Given the description of an element on the screen output the (x, y) to click on. 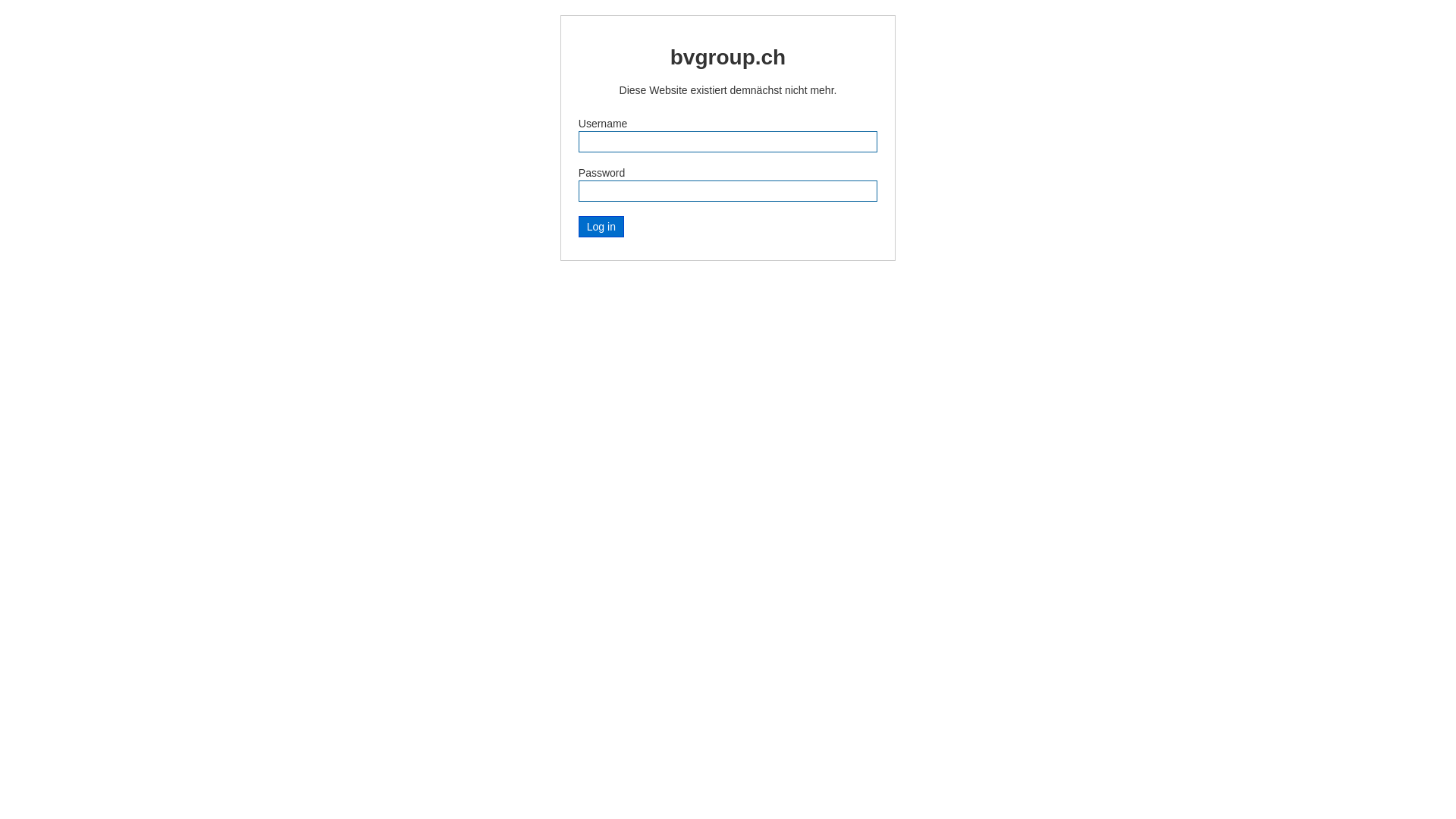
Log in Element type: text (601, 226)
